Given the description of an element on the screen output the (x, y) to click on. 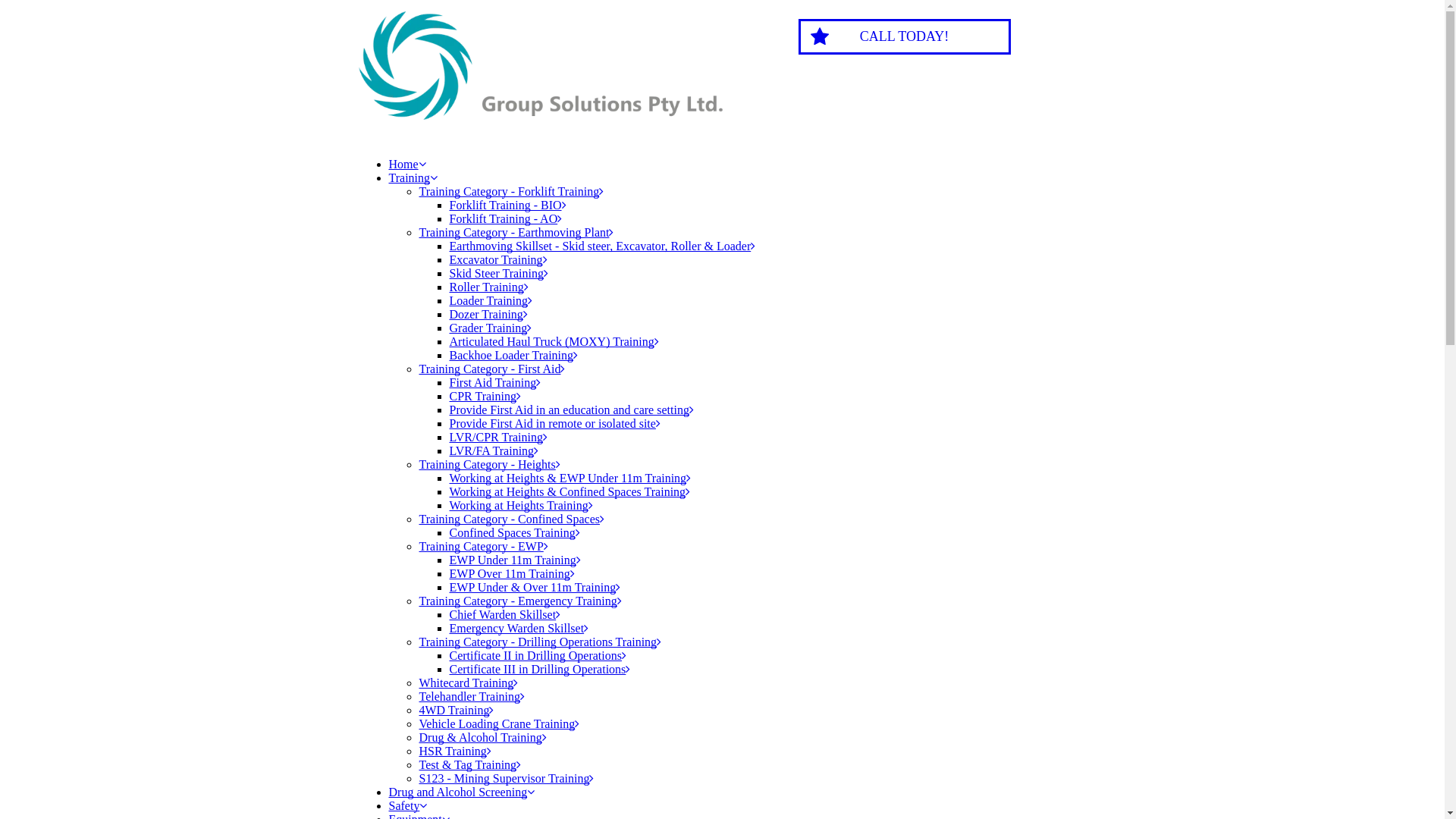
Training Category - Emergency Training Element type: text (519, 600)
Working at Heights & Confined Spaces Training Element type: text (569, 491)
CALL TODAY! Element type: text (903, 36)
Provide First Aid in an education and care setting Element type: text (570, 409)
Training Category - Forklift Training Element type: text (510, 191)
Grader Training Element type: text (489, 327)
Certificate II in Drilling Operations Element type: text (536, 655)
Backhoe Loader Training Element type: text (512, 354)
LVR/CPR Training Element type: text (497, 436)
Forklift Training - AO Element type: text (504, 218)
Vehicle Loading Crane Training Element type: text (498, 723)
First Aid Training Element type: text (494, 382)
Training Category - Drilling Operations Training Element type: text (539, 641)
Working at Heights & EWP Under 11m Training Element type: text (569, 477)
Excavator Training Element type: text (497, 259)
Loader Training Element type: text (490, 300)
Telehandler Training Element type: text (471, 696)
Chief Warden Skillset Element type: text (504, 614)
LVR/FA Training Element type: text (493, 450)
Articulated Haul Truck (MOXY) Training Element type: text (553, 341)
Skid Steer Training Element type: text (497, 272)
Provide First Aid in remote or isolated site Element type: text (553, 423)
Drug and Alcohol Screening Element type: text (461, 791)
Training Category - Earthmoving Plant Element type: text (515, 231)
Safety Element type: text (407, 805)
Roller Training Element type: text (487, 286)
EWP Over 11m Training Element type: text (511, 573)
Emergency Warden Skillset Element type: text (518, 627)
Dozer Training Element type: text (487, 313)
4WD Training Element type: text (455, 709)
Whitecard Training Element type: text (467, 682)
Training Category - EWP Element type: text (482, 545)
Training Element type: text (412, 177)
Drug & Alcohol Training Element type: text (482, 737)
EWP Under & Over 11m Training Element type: text (534, 586)
HSR Training Element type: text (454, 750)
Test & Tag Training Element type: text (469, 764)
Training Category - Heights Element type: text (488, 464)
Certificate III in Drilling Operations Element type: text (539, 668)
Home Element type: text (406, 163)
S123 - Mining Supervisor Training Element type: text (505, 777)
EWP Under 11m Training Element type: text (514, 559)
CPR Training Element type: text (484, 395)
Confined Spaces Training Element type: text (513, 532)
Forklift Training - BIO Element type: text (506, 204)
Training Category - First Aid Element type: text (491, 368)
Working at Heights Training Element type: text (520, 504)
Training Category - Confined Spaces Element type: text (510, 518)
